Given the description of an element on the screen output the (x, y) to click on. 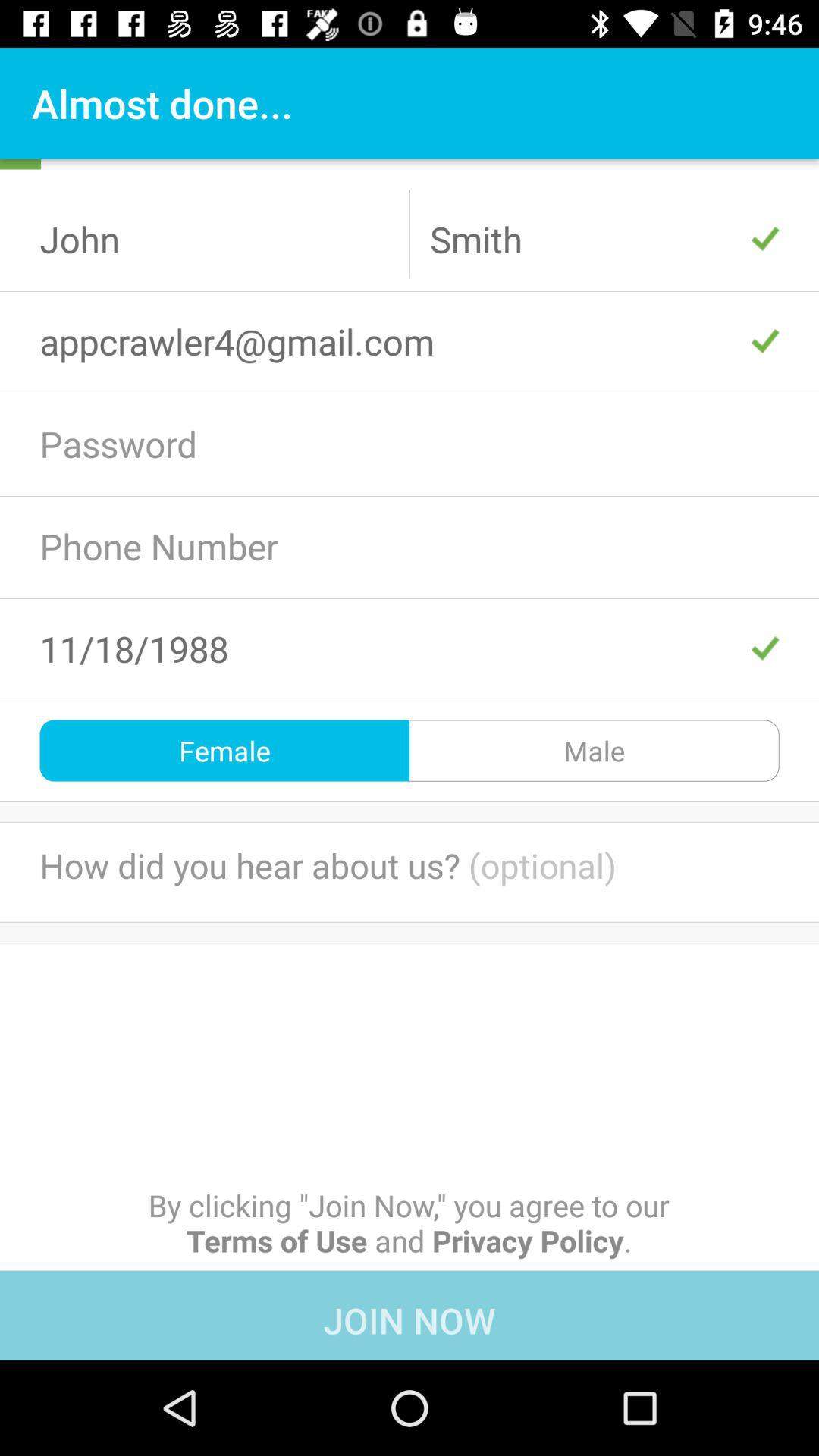
tap icon to the right of the female icon (594, 750)
